Given the description of an element on the screen output the (x, y) to click on. 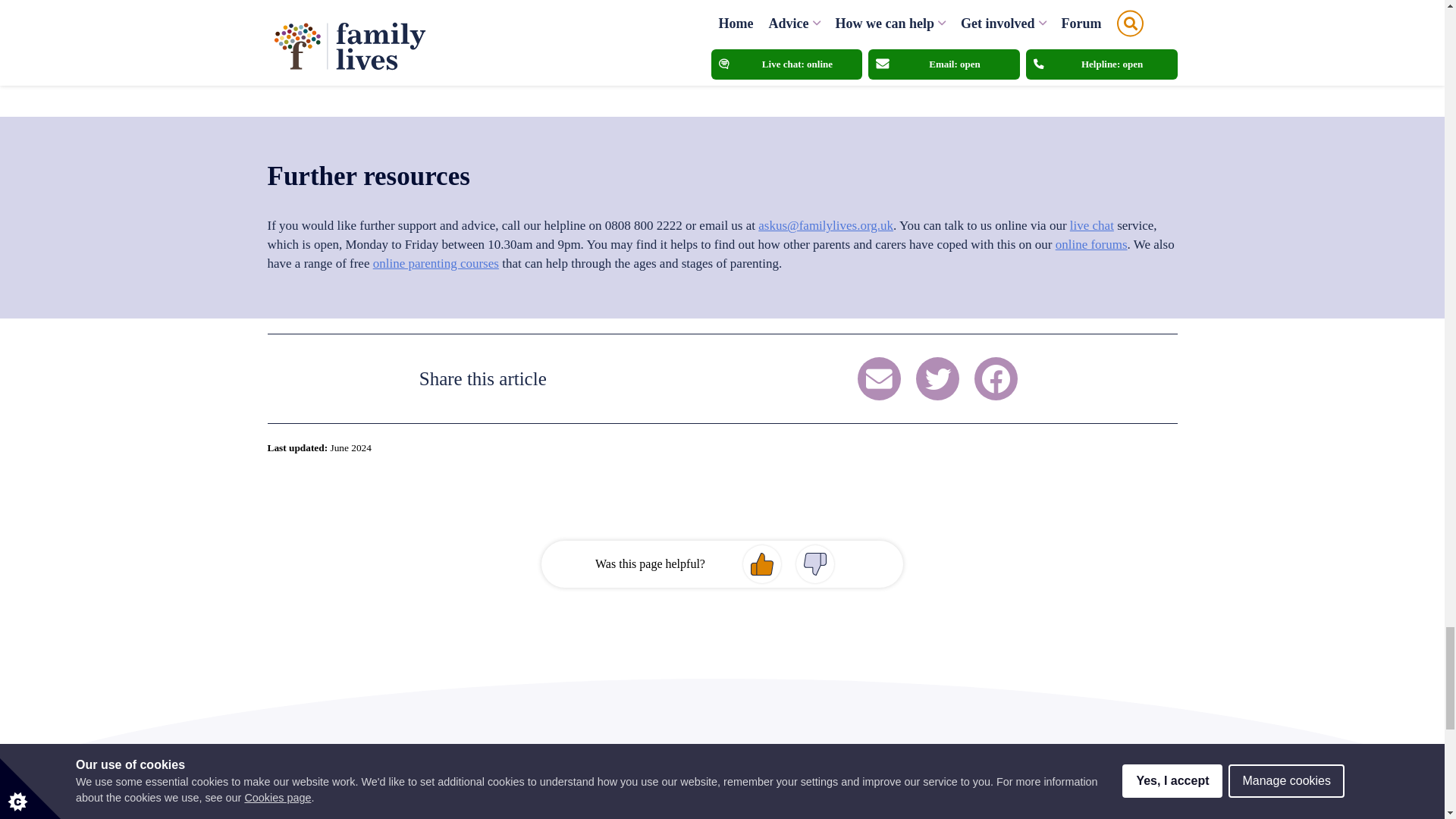
Follow on Email (879, 378)
Follow on Twitter (937, 378)
Follow on Facebook (995, 378)
